Given the description of an element on the screen output the (x, y) to click on. 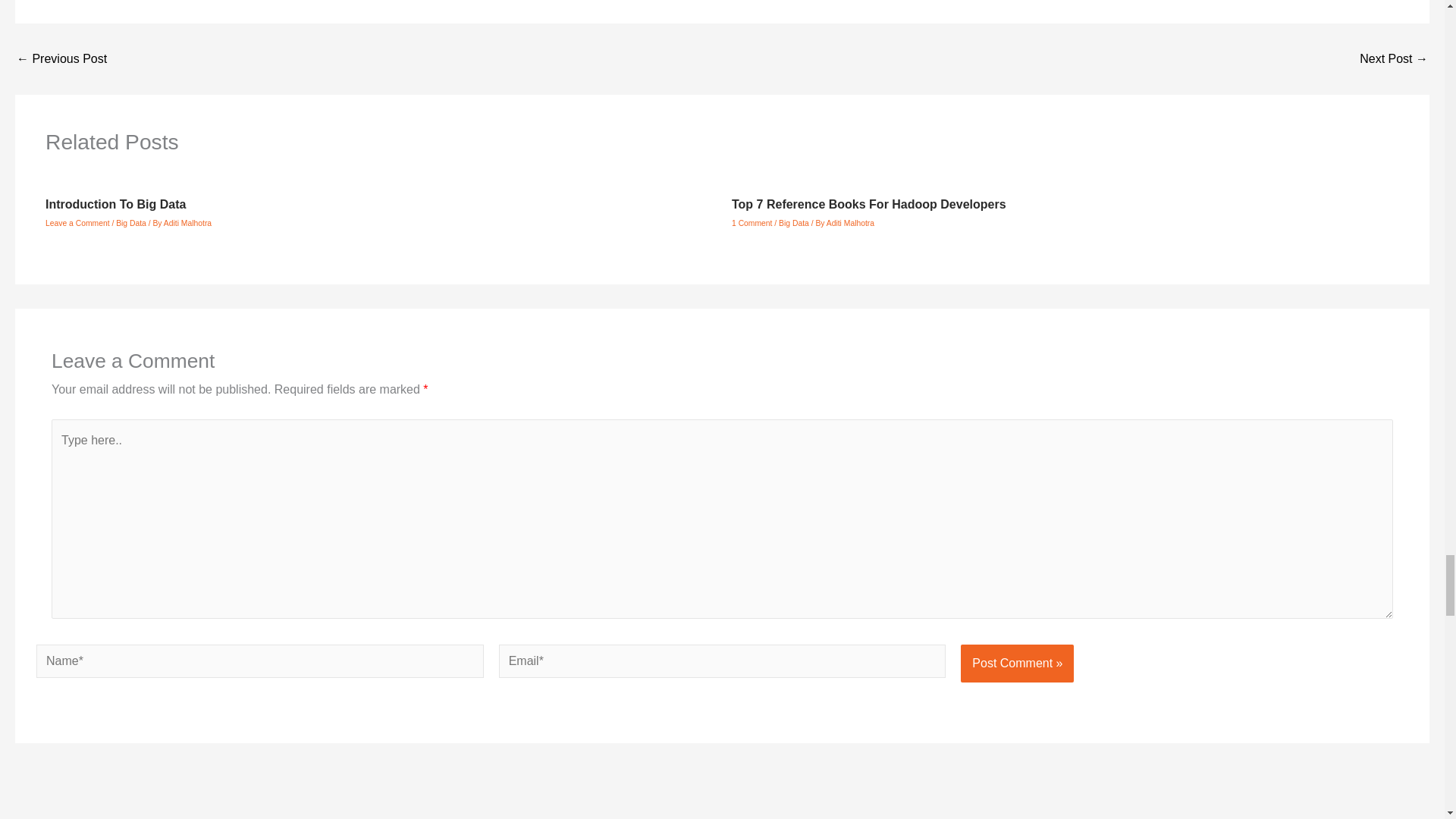
View all posts by Aditi Malhotra (851, 223)
How to Improve Connectivity and Secure your VPC Resources? (61, 59)
View all posts by Aditi Malhotra (187, 223)
